Given the description of an element on the screen output the (x, y) to click on. 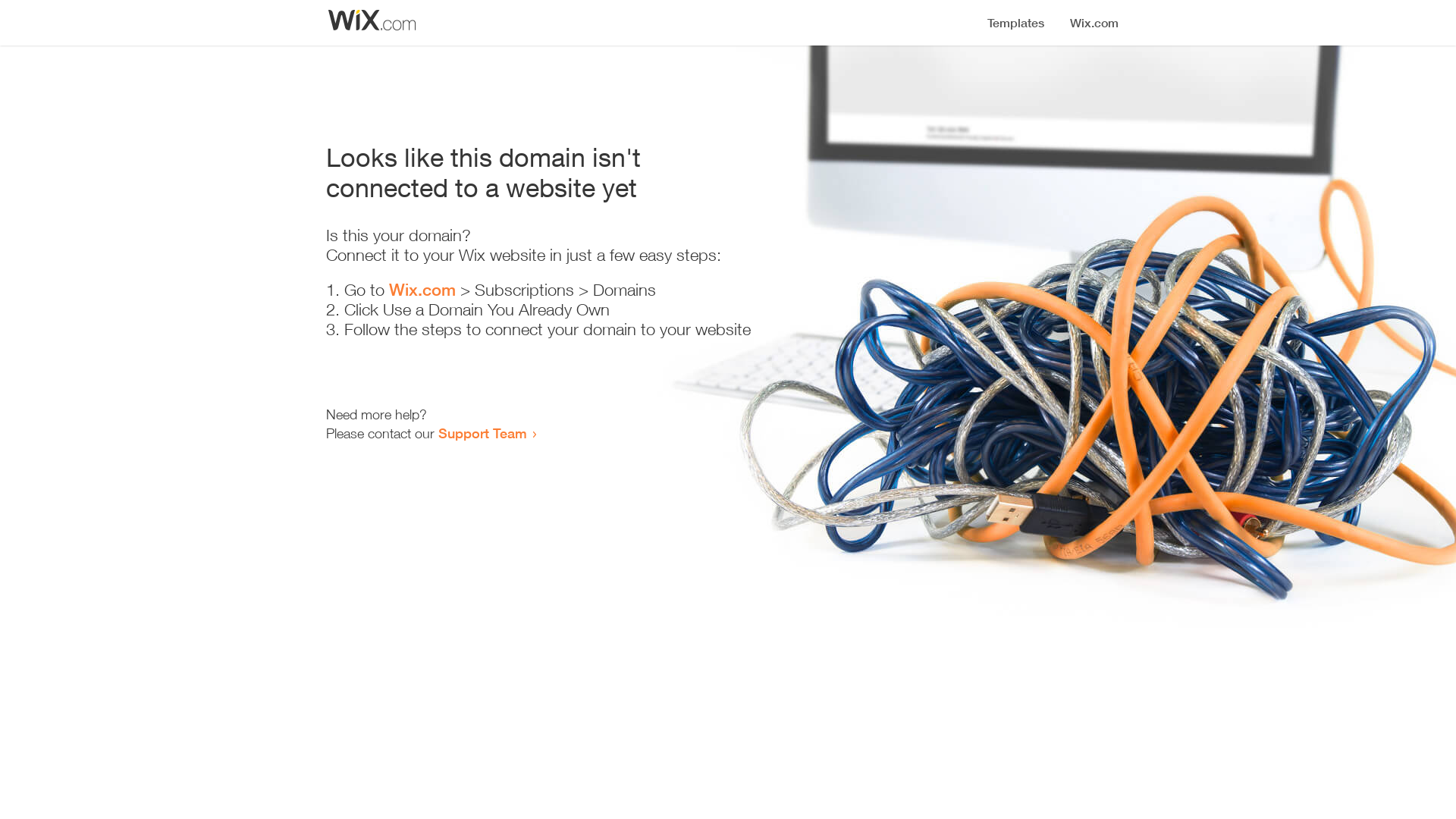
Wix.com Element type: text (422, 289)
Support Team Element type: text (482, 432)
